Given the description of an element on the screen output the (x, y) to click on. 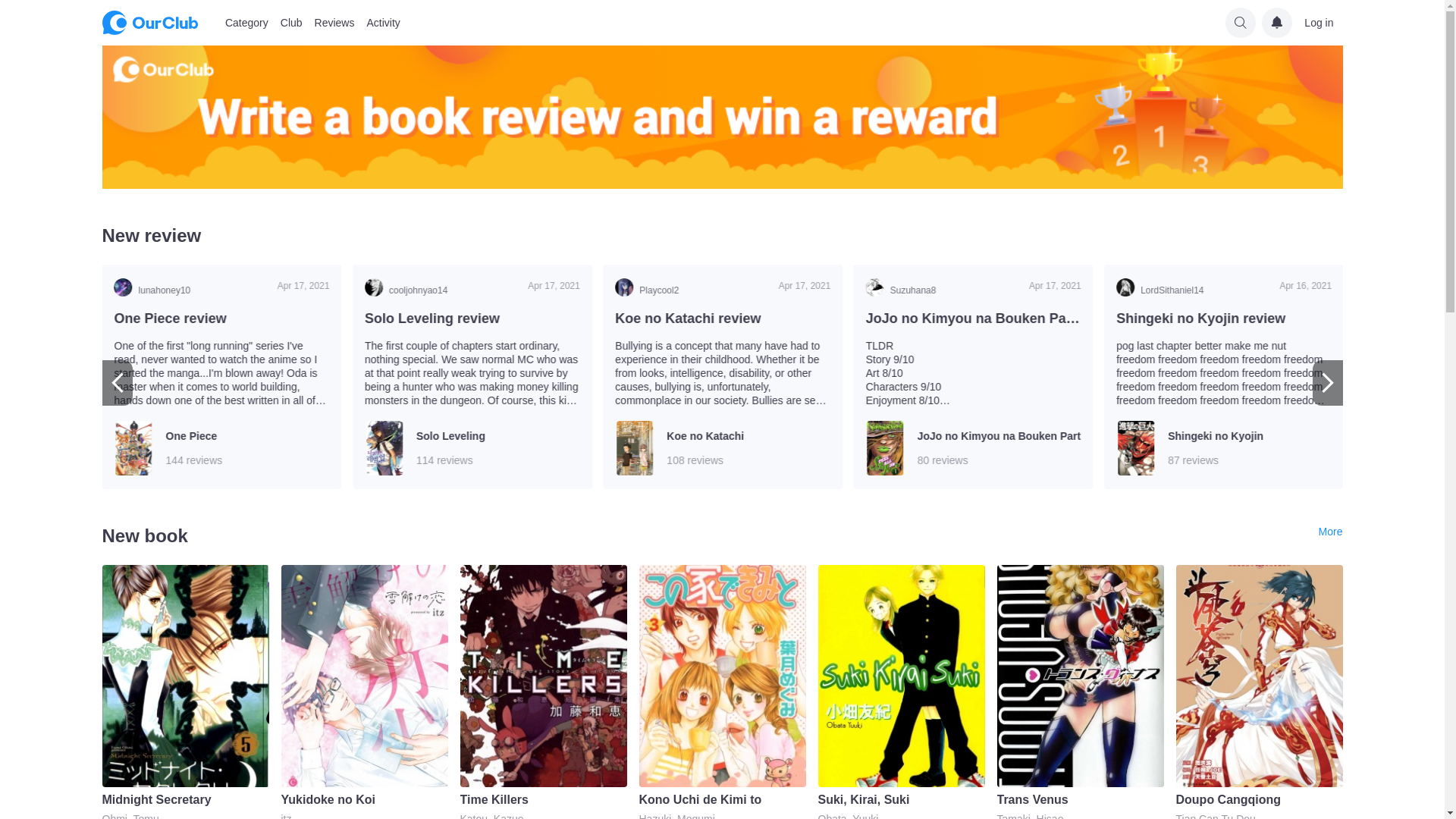
RoodyChan2 Element type: text (692, 287)
Utsuro no Hako to Zero no Maria
48 reviews Element type: text (221, 447)
The Horizon
22 reviews Element type: text (722, 447)
PurpleYam2 Element type: text (943, 287)
lilkraken3 Element type: text (190, 287)
AkemiTheSunbro13 Element type: text (1193, 287)
Yokohama Kaidashi Kikou
31 reviews Element type: text (1223, 447)
our club activity Element type: hover (722, 116)
Made in Abyss
28 reviews Element type: text (472, 447)
One Punch-Man
37 reviews Element type: text (973, 447)
Snowkittenz2 Element type: text (441, 287)
